Given the description of an element on the screen output the (x, y) to click on. 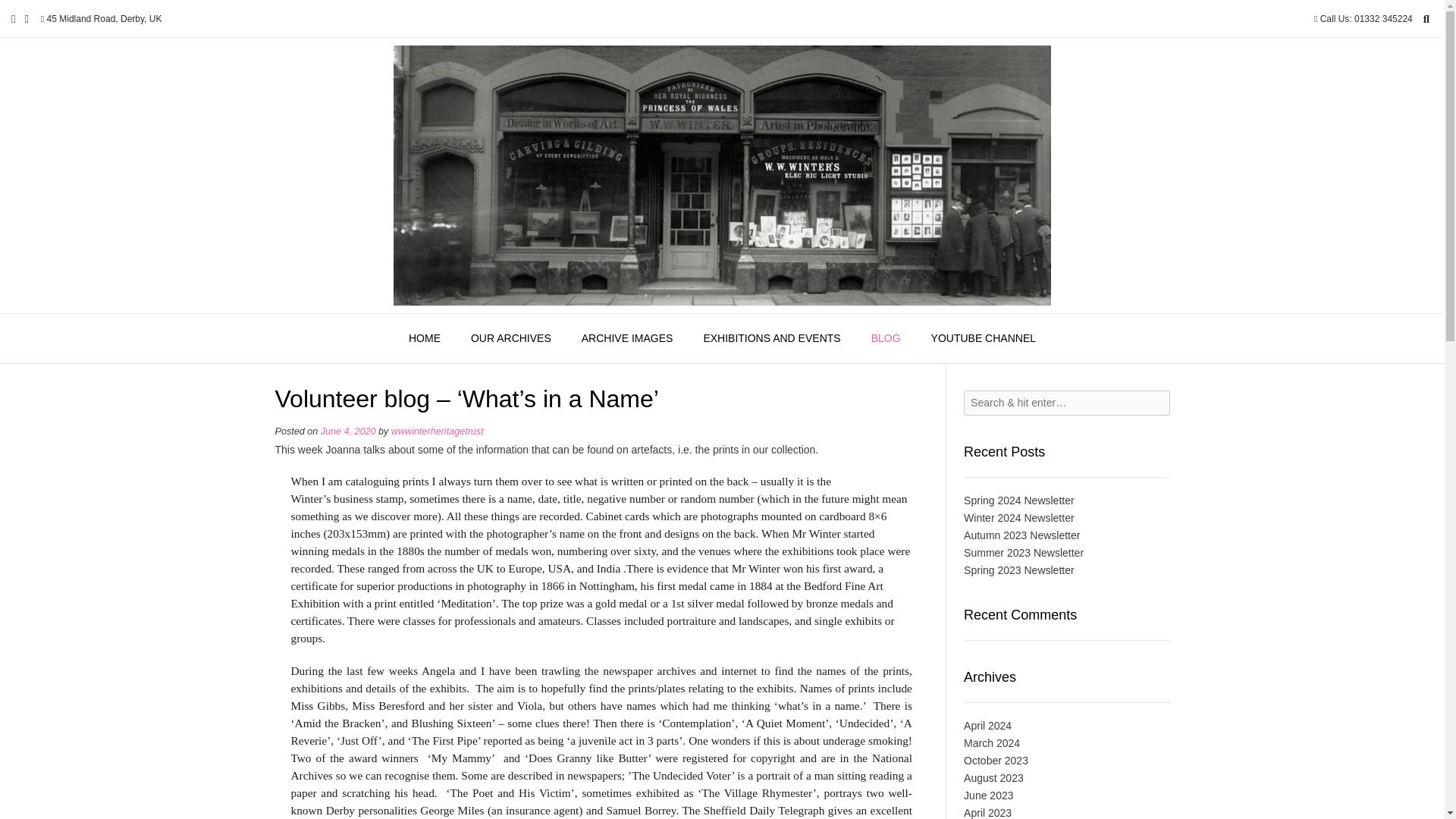
Autumn 2023 Newsletter (1021, 535)
BLOG (885, 338)
April 2024 (987, 725)
March 2024 (991, 743)
June 4, 2020 (347, 430)
April 2023 (987, 812)
June 2023 (988, 795)
Spring 2023 Newsletter (1018, 570)
HOME (424, 338)
August 2023 (993, 777)
OUR ARCHIVES (510, 338)
EXHIBITIONS AND EVENTS (771, 338)
